Given the description of an element on the screen output the (x, y) to click on. 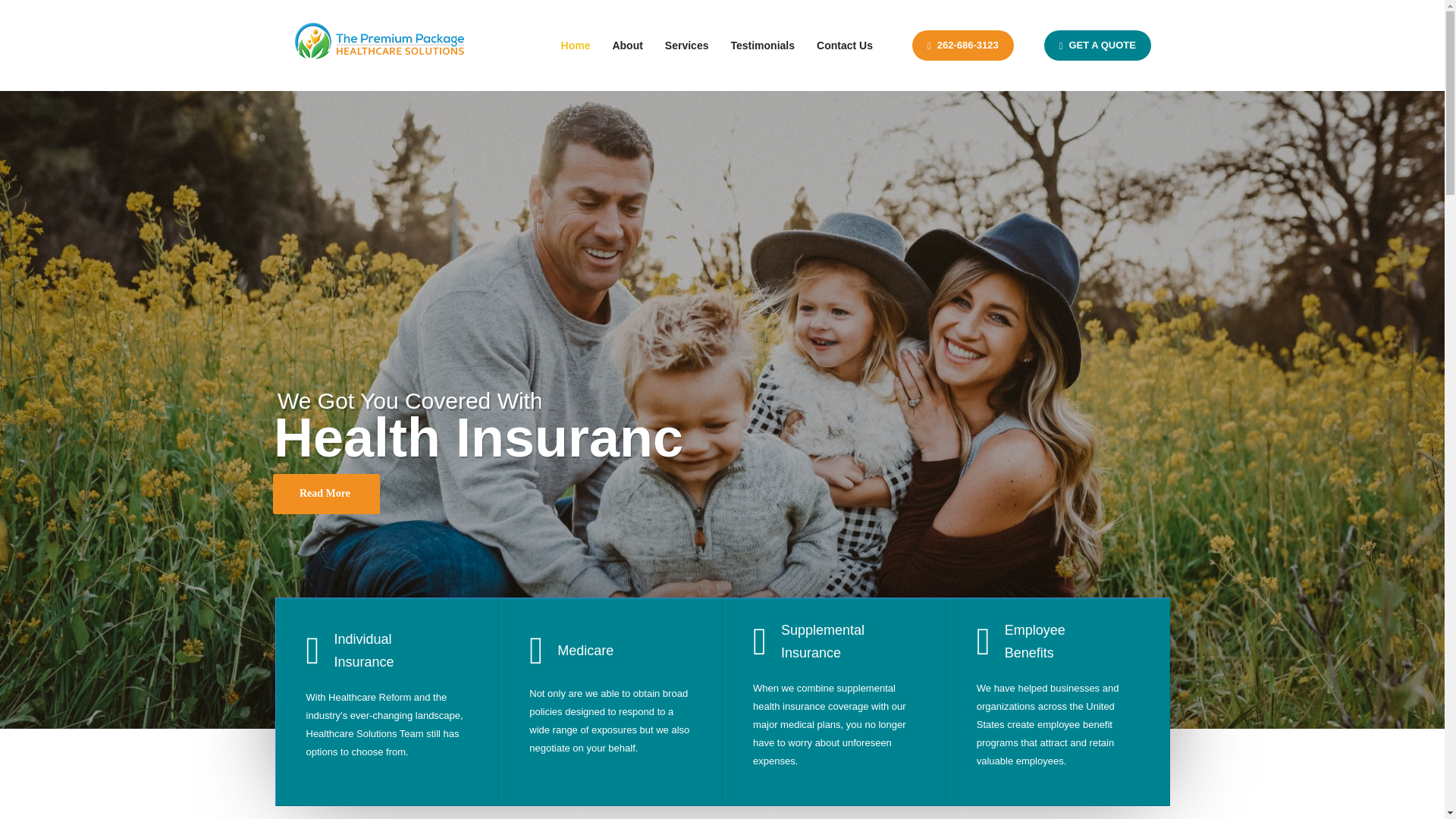
Services (686, 45)
Healthcare Solutions Team (380, 45)
262-686-3123 (962, 45)
Home (575, 45)
GET A QUOTE (1097, 45)
Contact Us (845, 45)
Testimonials (761, 45)
About (626, 45)
Read More (326, 494)
